Given the description of an element on the screen output the (x, y) to click on. 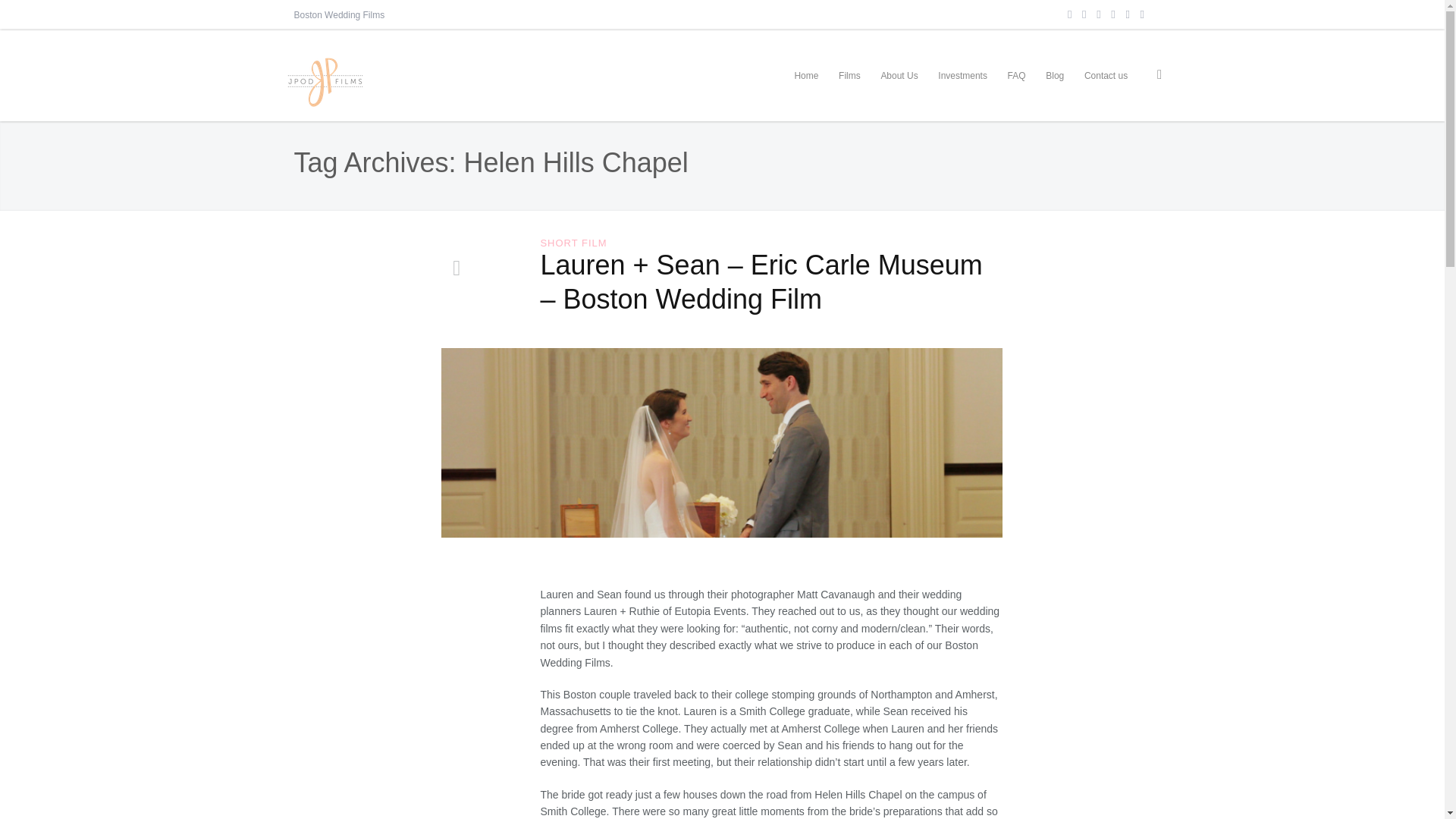
SHORT FILM (573, 242)
About Us (899, 75)
FAQ (1016, 75)
Blog (1054, 75)
Films (849, 75)
Investments (962, 75)
Contact us (1106, 75)
About Us (899, 75)
Home (806, 75)
